Given the description of an element on the screen output the (x, y) to click on. 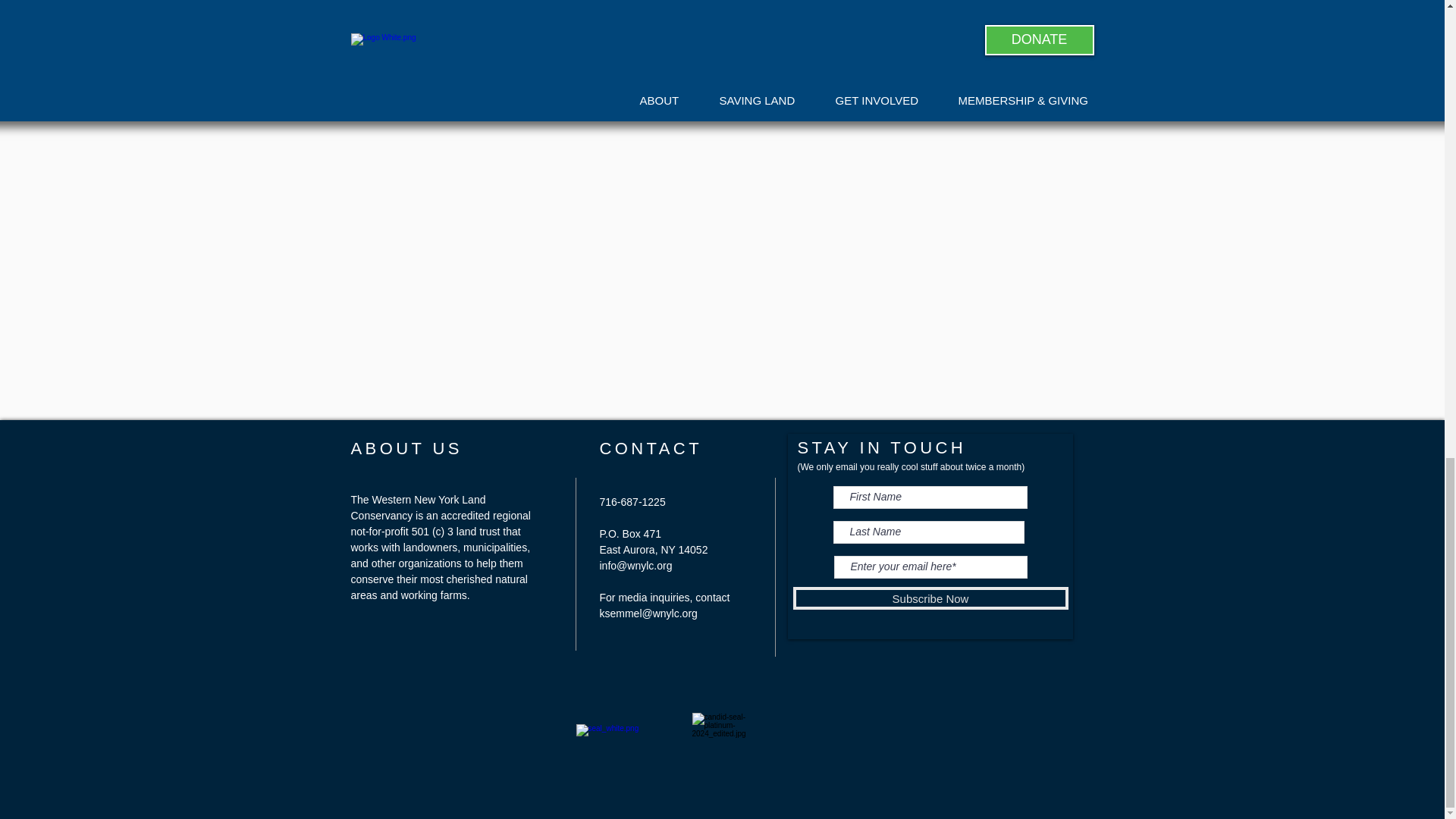
Subscribe Now (930, 598)
